Given the description of an element on the screen output the (x, y) to click on. 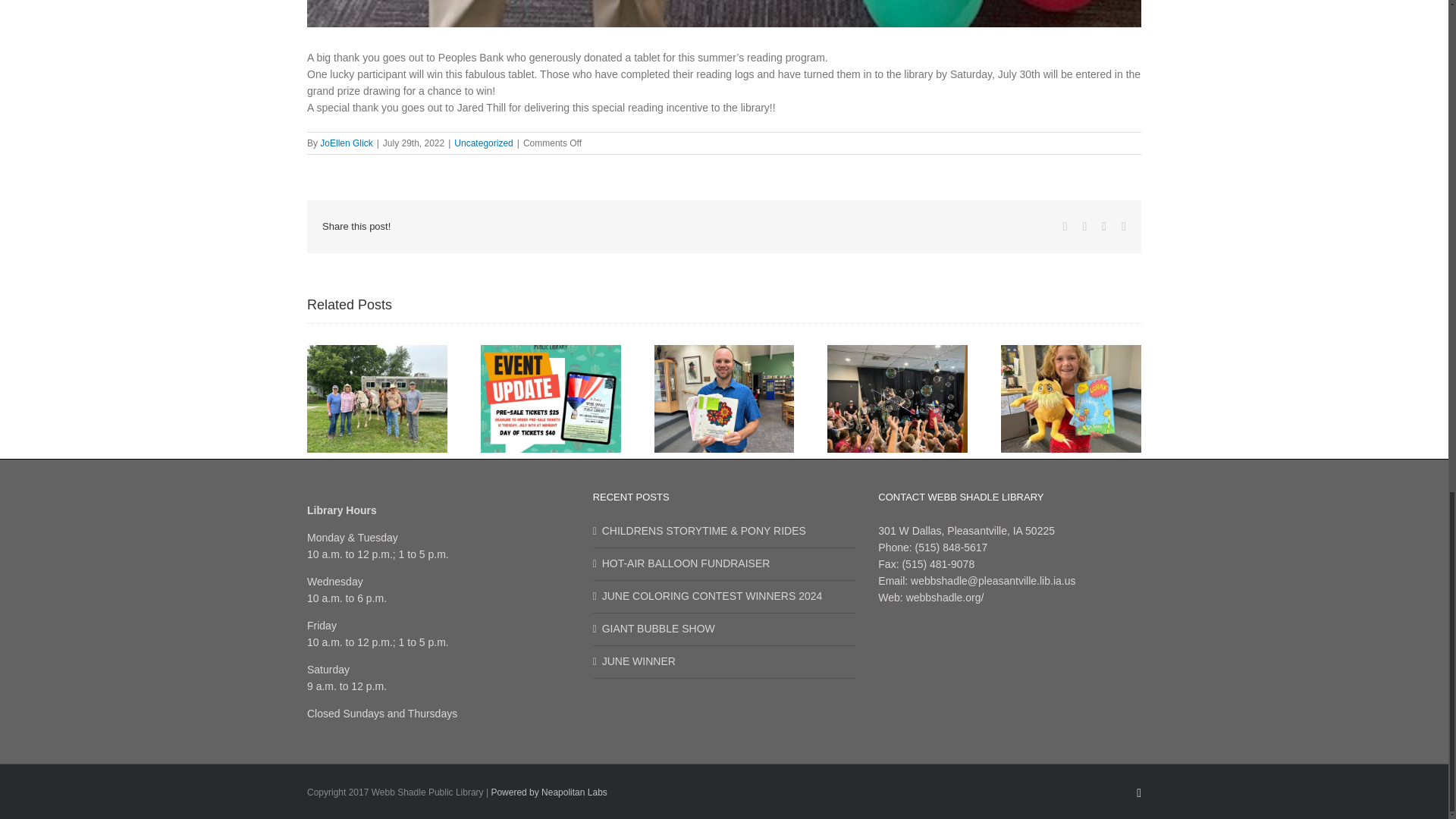
Posts by JoEllen Glick (346, 143)
